Given the description of an element on the screen output the (x, y) to click on. 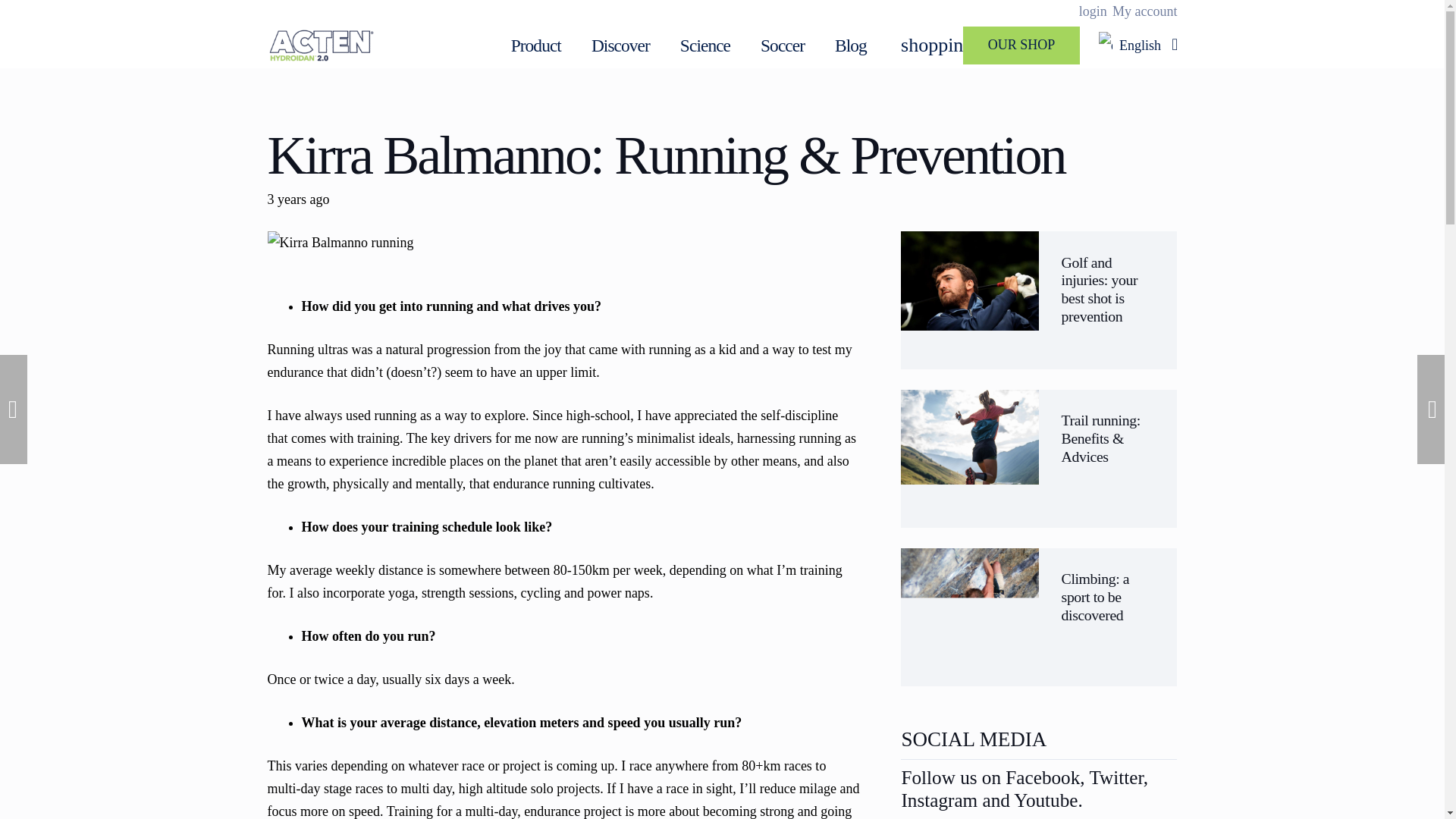
Product (536, 44)
loginMy account (1127, 10)
Soccer (782, 44)
English (1137, 44)
Running ultras (306, 349)
Blog (850, 44)
OUR SHOP (1020, 45)
Science (705, 44)
Golf and injuries: your best shot is prevention (1099, 288)
Discover (620, 44)
